Given the description of an element on the screen output the (x, y) to click on. 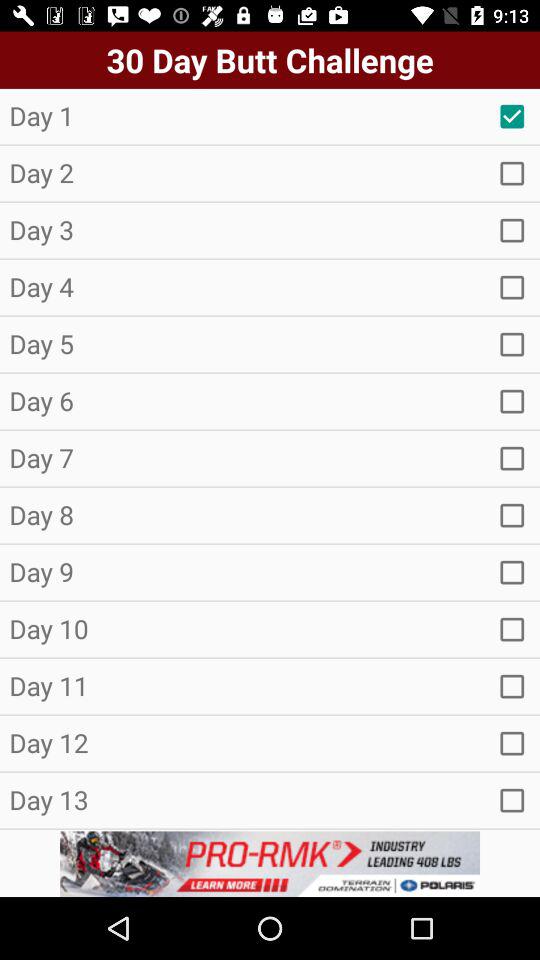
day 7 check box (512, 458)
